Given the description of an element on the screen output the (x, y) to click on. 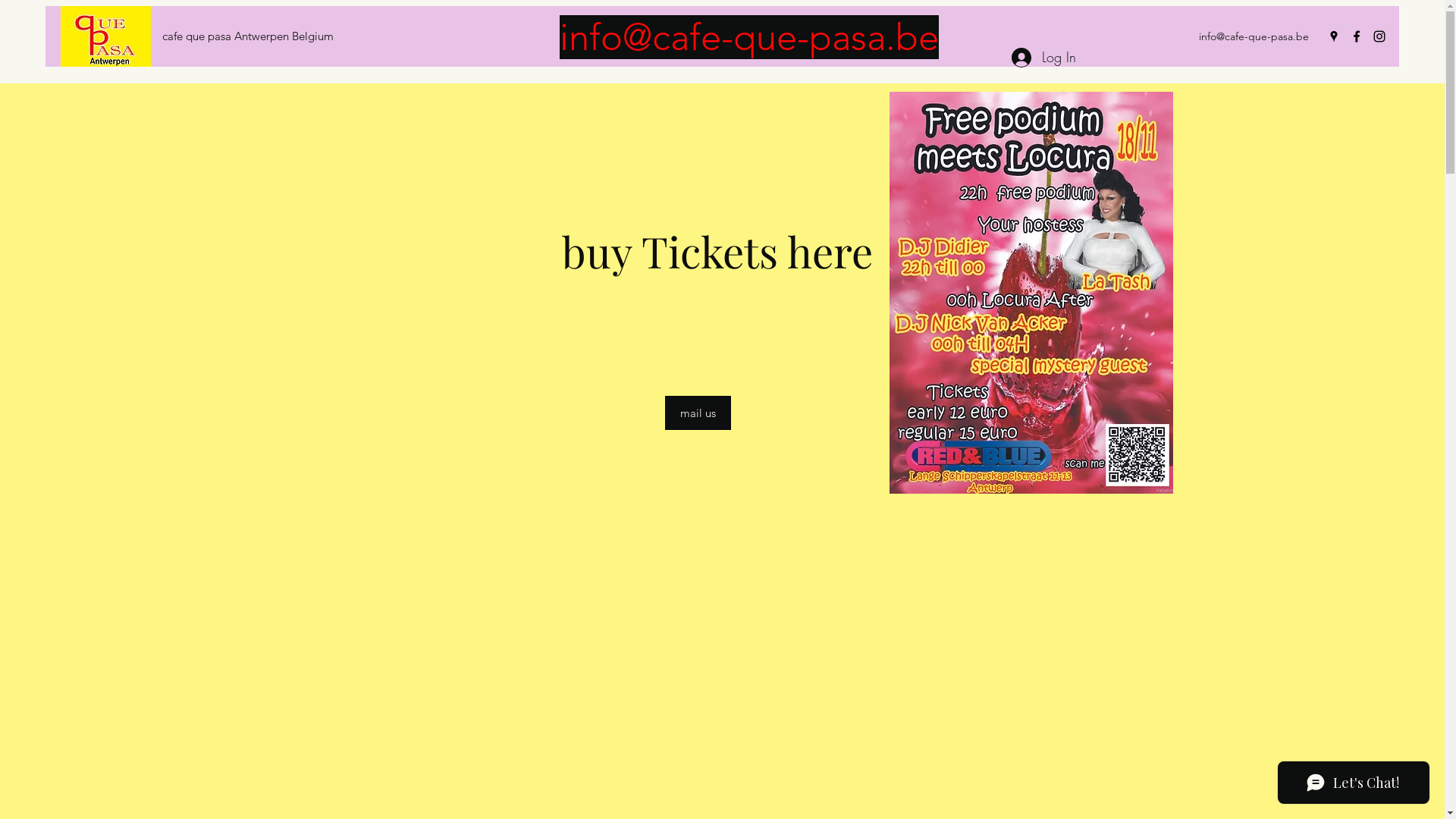
info@cafe-que-pasa.be Element type: text (1253, 36)
mail us Element type: text (697, 412)
buy Tickets here  Element type: text (721, 250)
Log In Element type: text (1043, 57)
info@cafe-que-pasa.be Element type: text (748, 37)
